Given the description of an element on the screen output the (x, y) to click on. 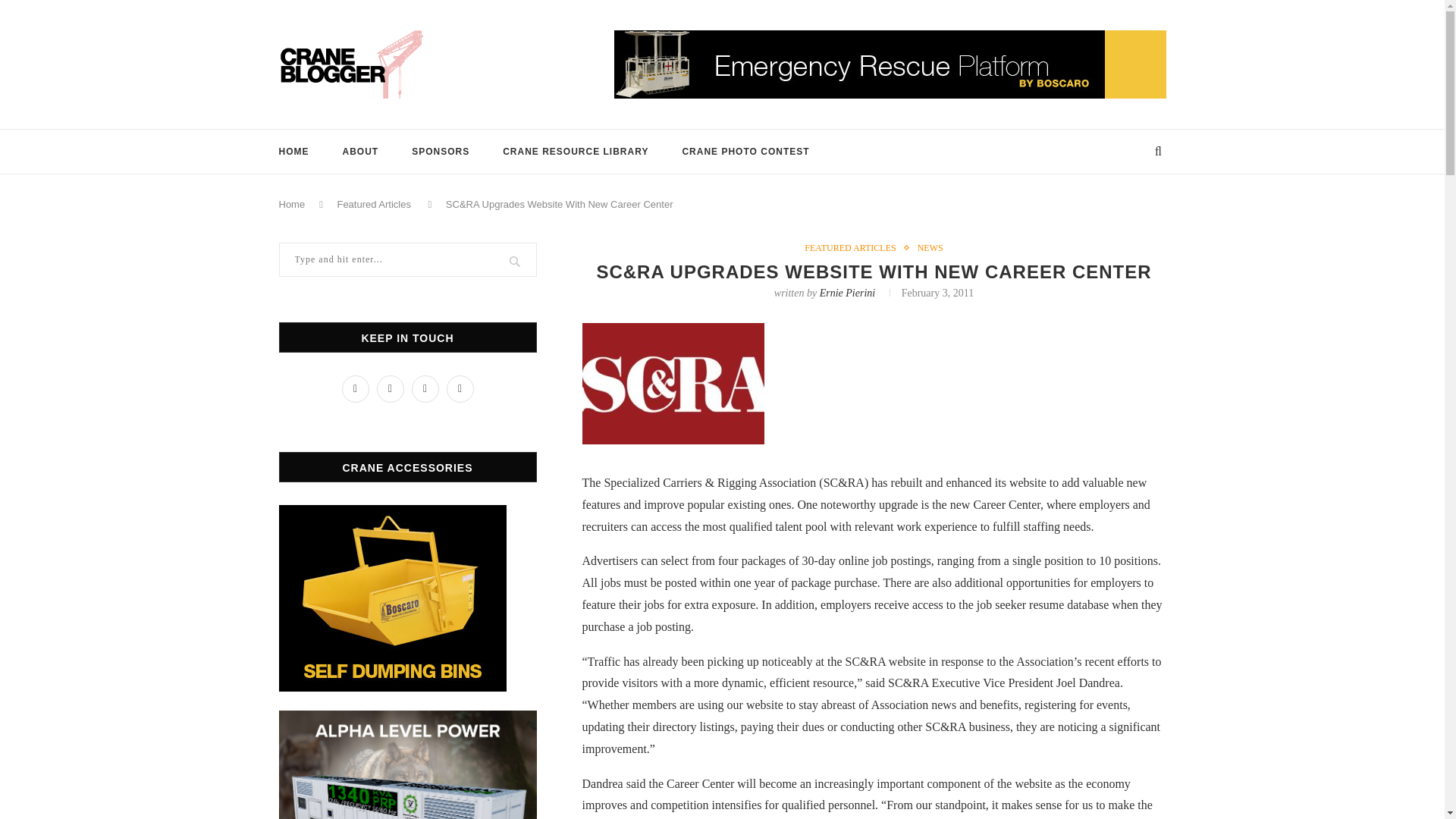
View all posts in Featured Articles (853, 247)
CRANE PHOTO CONTEST (745, 151)
View all posts in News (930, 247)
CRANE RESOURCE LIBRARY (574, 151)
504 (673, 383)
SPONSORS (440, 151)
